Given the description of an element on the screen output the (x, y) to click on. 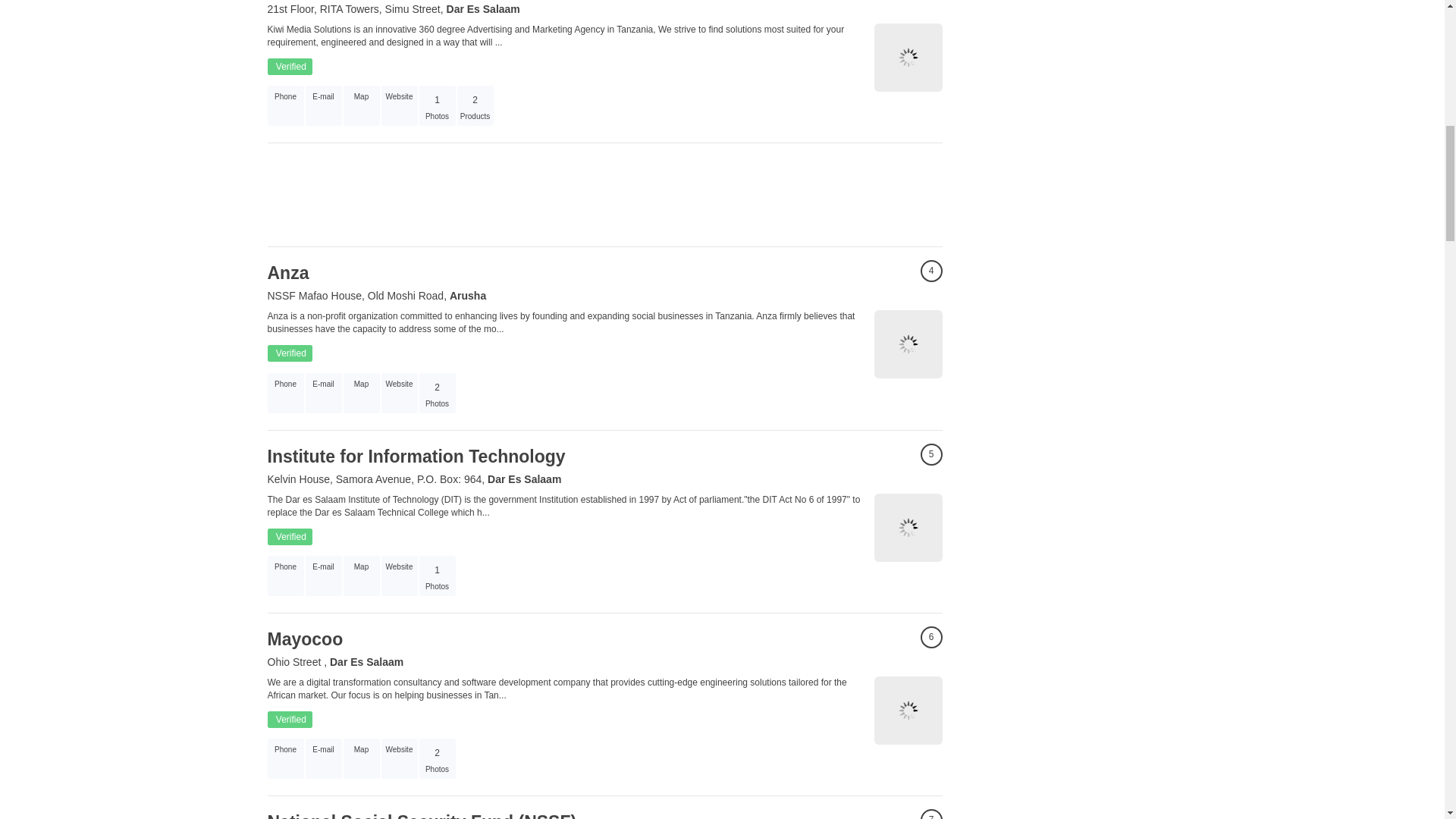
Anza (287, 272)
Kiwi Media Solutions Business Page (907, 57)
Companies in Dar Es Salaam (482, 9)
Dar Es Salaam (482, 9)
